Given the description of an element on the screen output the (x, y) to click on. 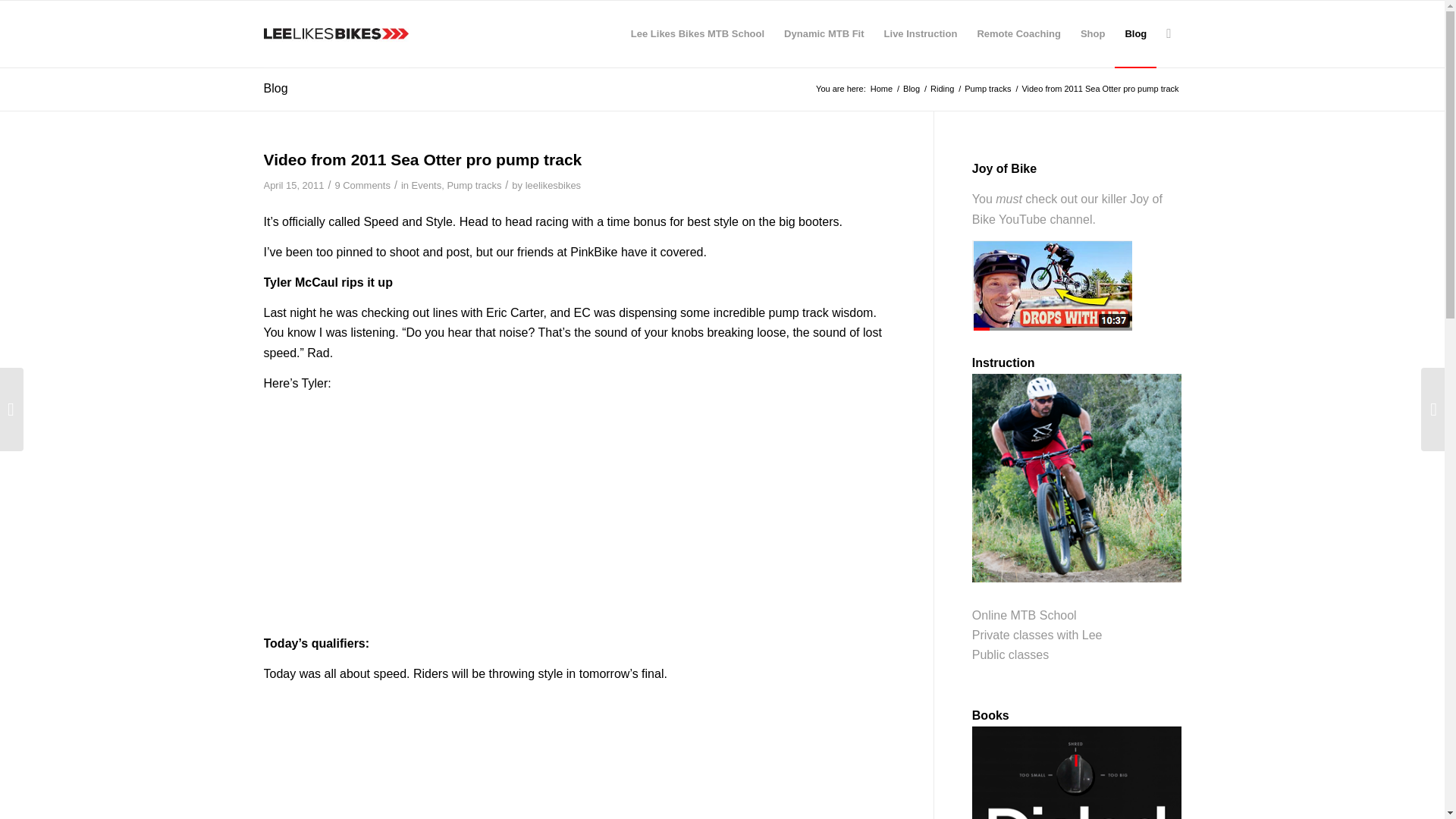
Blog (275, 88)
Lee Likes Bikes MTB School (697, 33)
Home (881, 89)
Blog (911, 89)
Events (427, 184)
Joy of Bike (1066, 208)
Private classes with Lee (1037, 634)
Public classes (1010, 654)
Permanent Link: Blog (275, 88)
Blog (911, 89)
leelikesbikes (552, 184)
Riding (942, 89)
Pump tracks (473, 184)
leelikesbikeslogoheader (336, 33)
Remote Coaching (1018, 33)
